Given the description of an element on the screen output the (x, y) to click on. 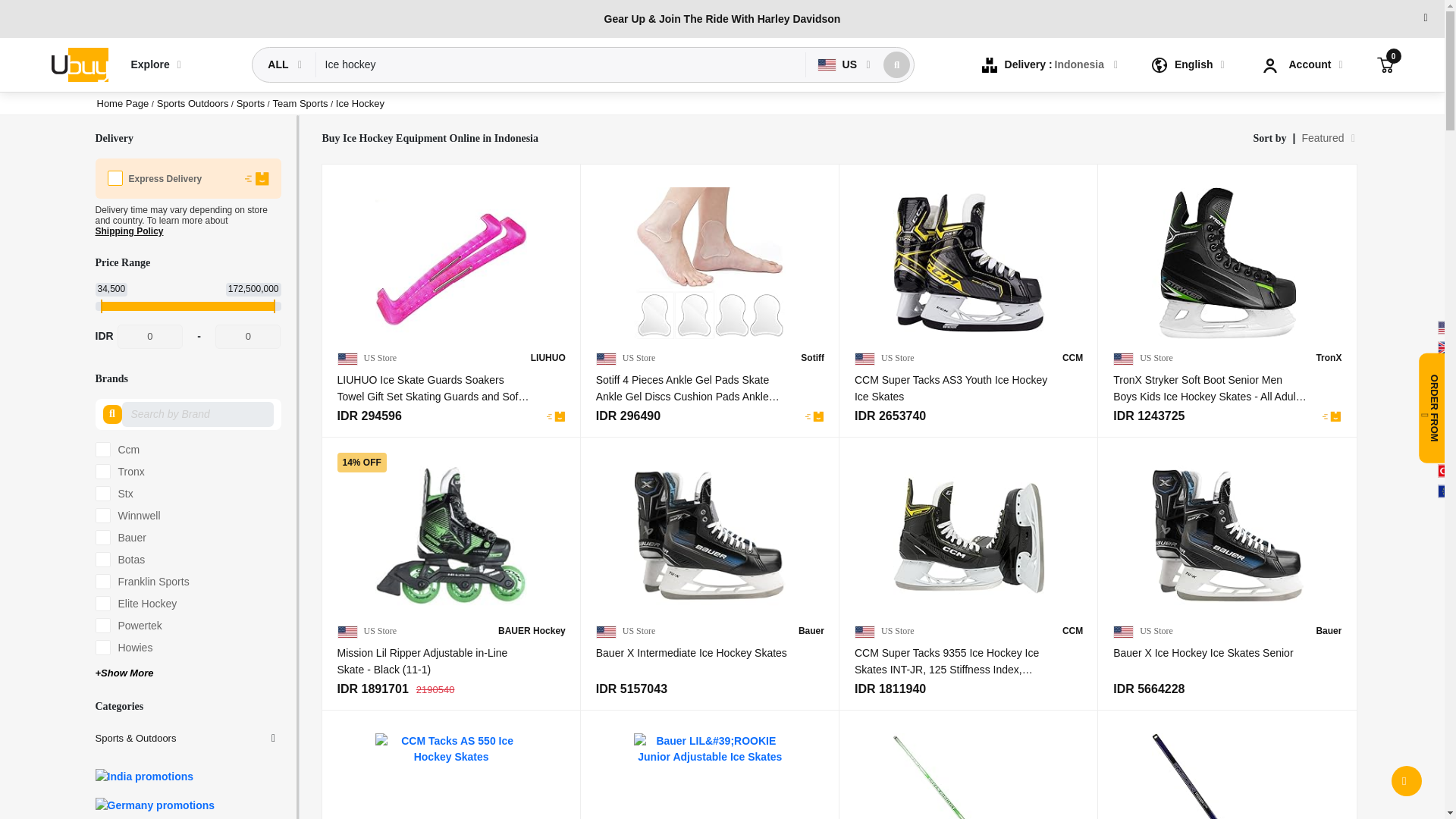
0 (1385, 64)
US (839, 64)
Ubuy (78, 64)
ALL (279, 64)
0 (150, 336)
Ice hockey (560, 64)
0 (248, 336)
